Given the description of an element on the screen output the (x, y) to click on. 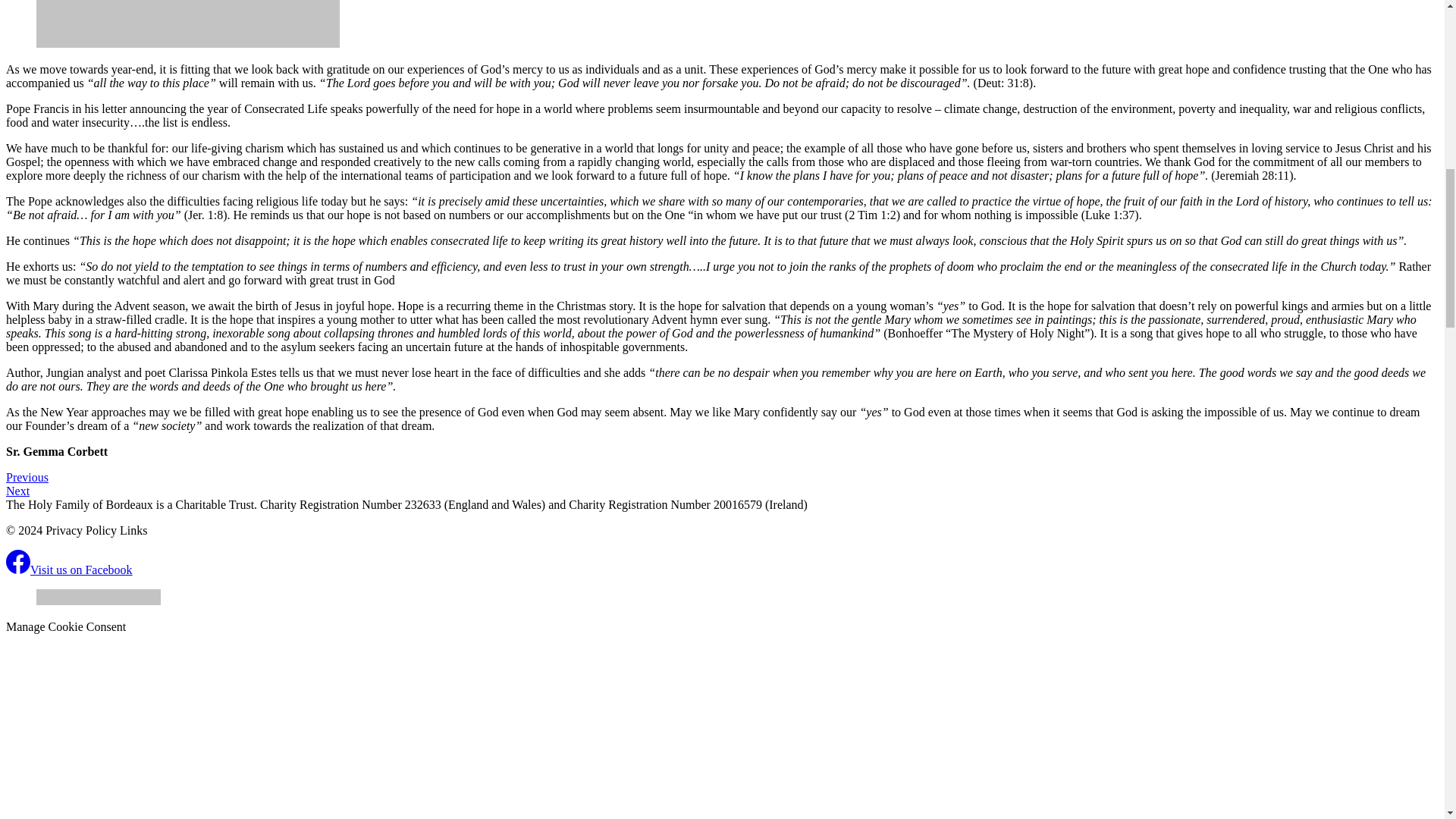
Facebook Visit us on Facebook (68, 569)
Previous (26, 477)
Facebook (17, 561)
Next (17, 490)
